Given the description of an element on the screen output the (x, y) to click on. 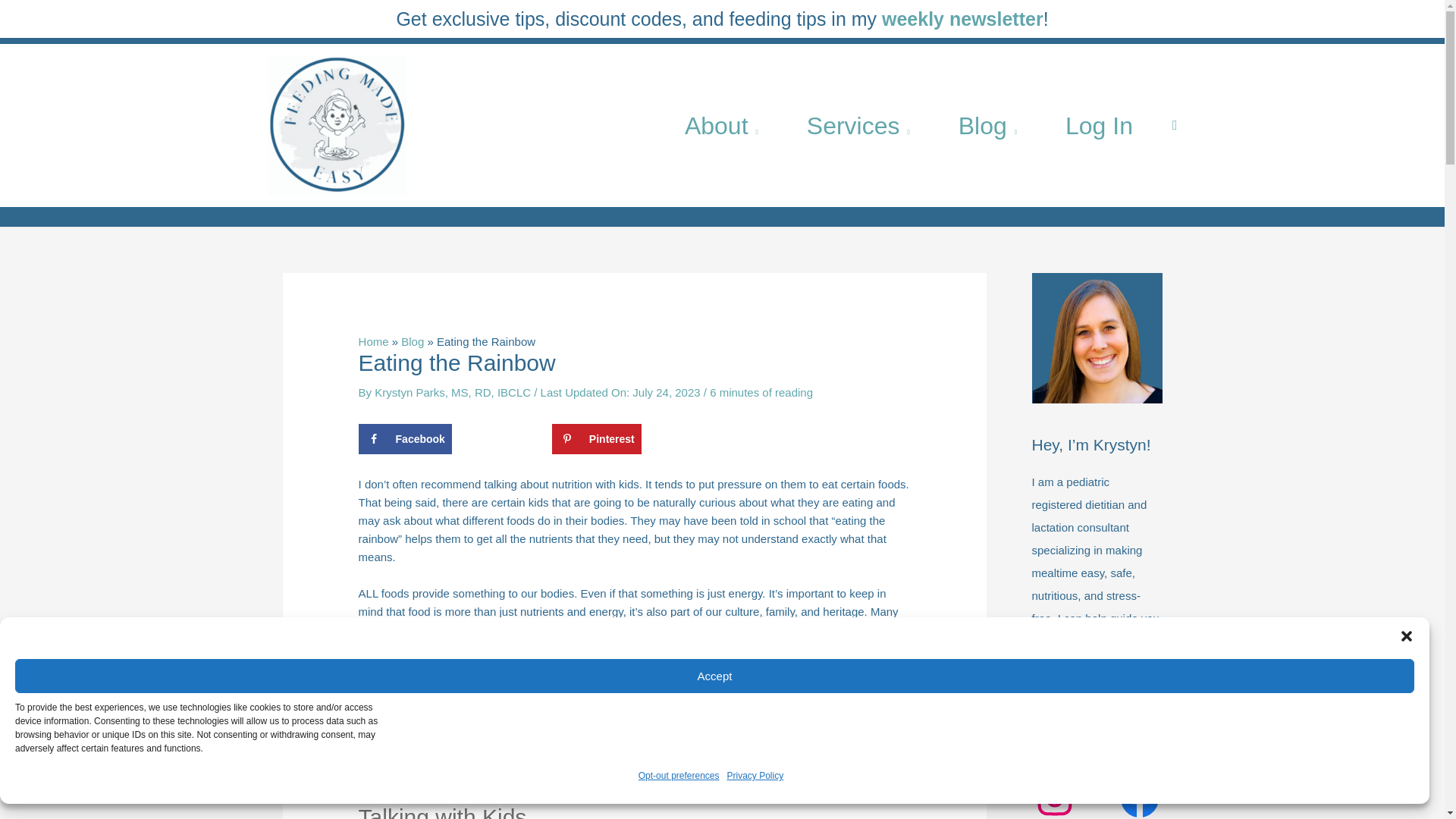
Share on Facebook (404, 439)
Privacy Policy (755, 775)
About (722, 124)
Accept (713, 675)
Opt-out preferences (679, 775)
Blog (987, 124)
Log In (1099, 124)
View all posts by Krystyn Parks, MS, RD, IBCLC (454, 391)
Share on X (501, 439)
Save to Pinterest (596, 439)
weekly newsletter (962, 18)
Services (858, 124)
